Given the description of an element on the screen output the (x, y) to click on. 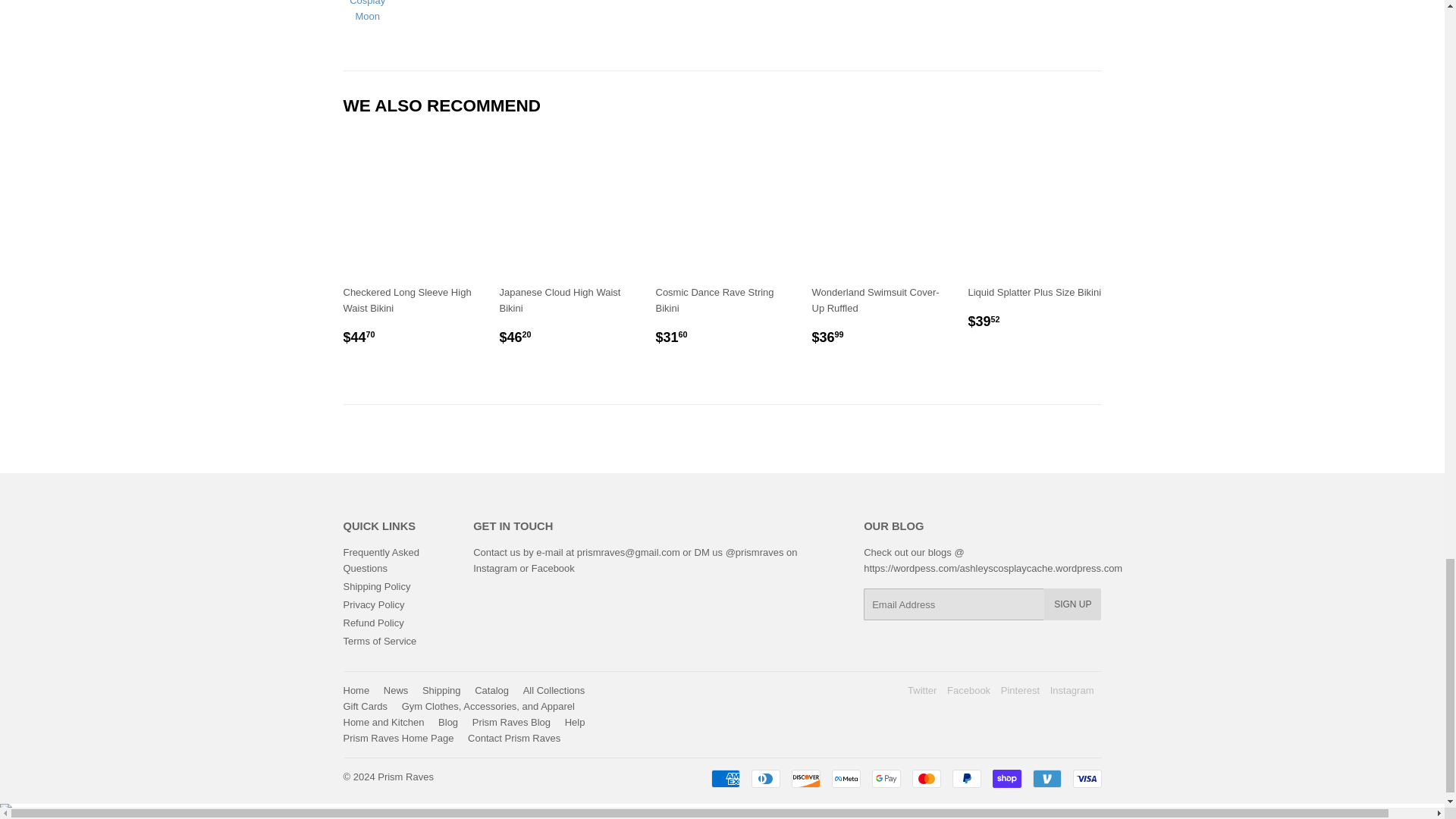
Prism Raves on Pinterest (1020, 690)
Google Pay (886, 778)
PayPal (966, 778)
Mastercard (925, 778)
American Express (725, 778)
Prism Raves on Twitter (921, 690)
Shop Pay (1005, 778)
Discover (806, 778)
Prism Raves on Instagram (1071, 690)
Visa (1085, 778)
